Given the description of an element on the screen output the (x, y) to click on. 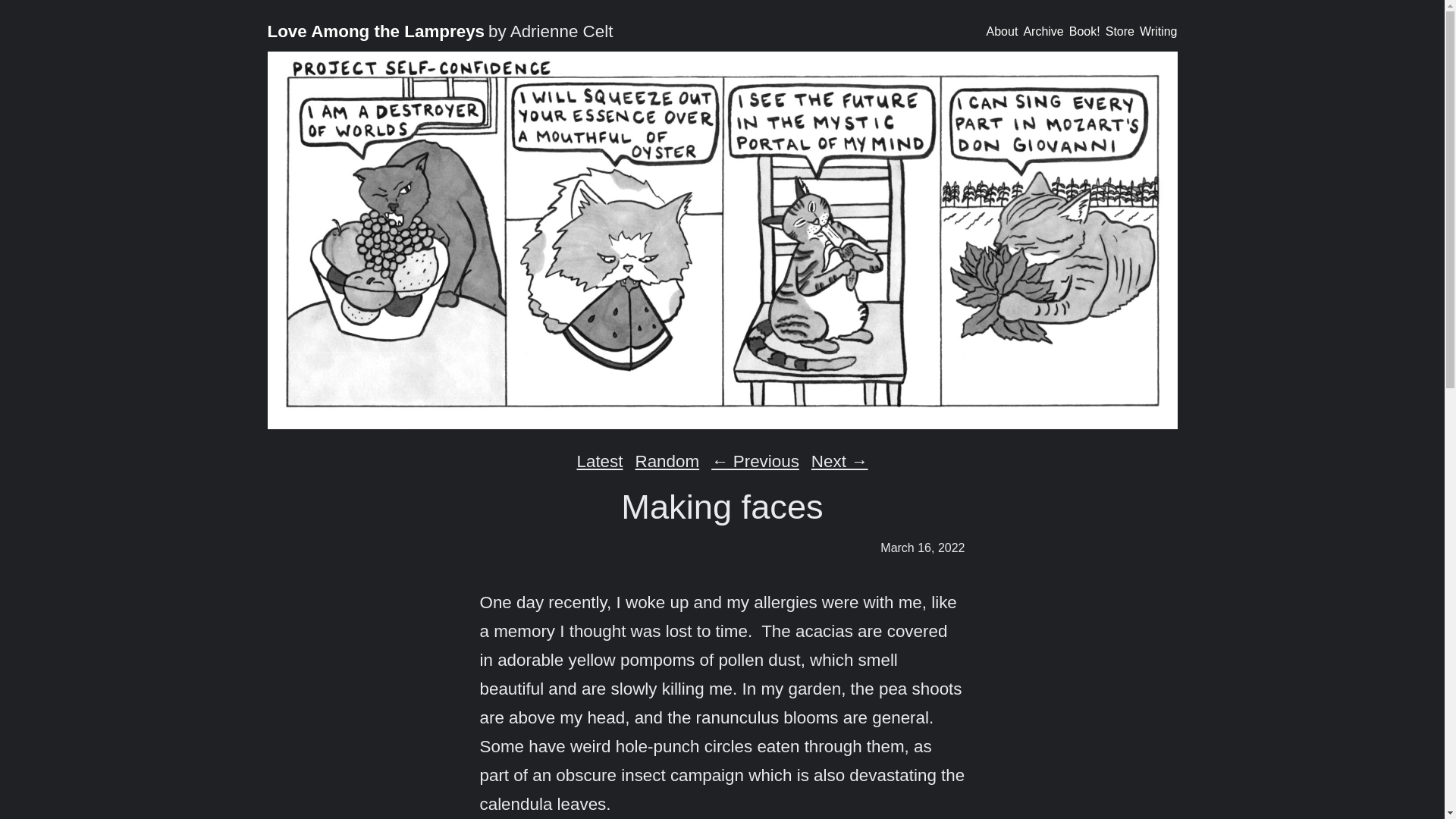
Archive (1042, 31)
Writing (1158, 31)
Book! (1084, 31)
Latest (599, 461)
Random (666, 461)
About (1002, 31)
Love Among the Lampreys (375, 31)
Store (1119, 31)
